Given the description of an element on the screen output the (x, y) to click on. 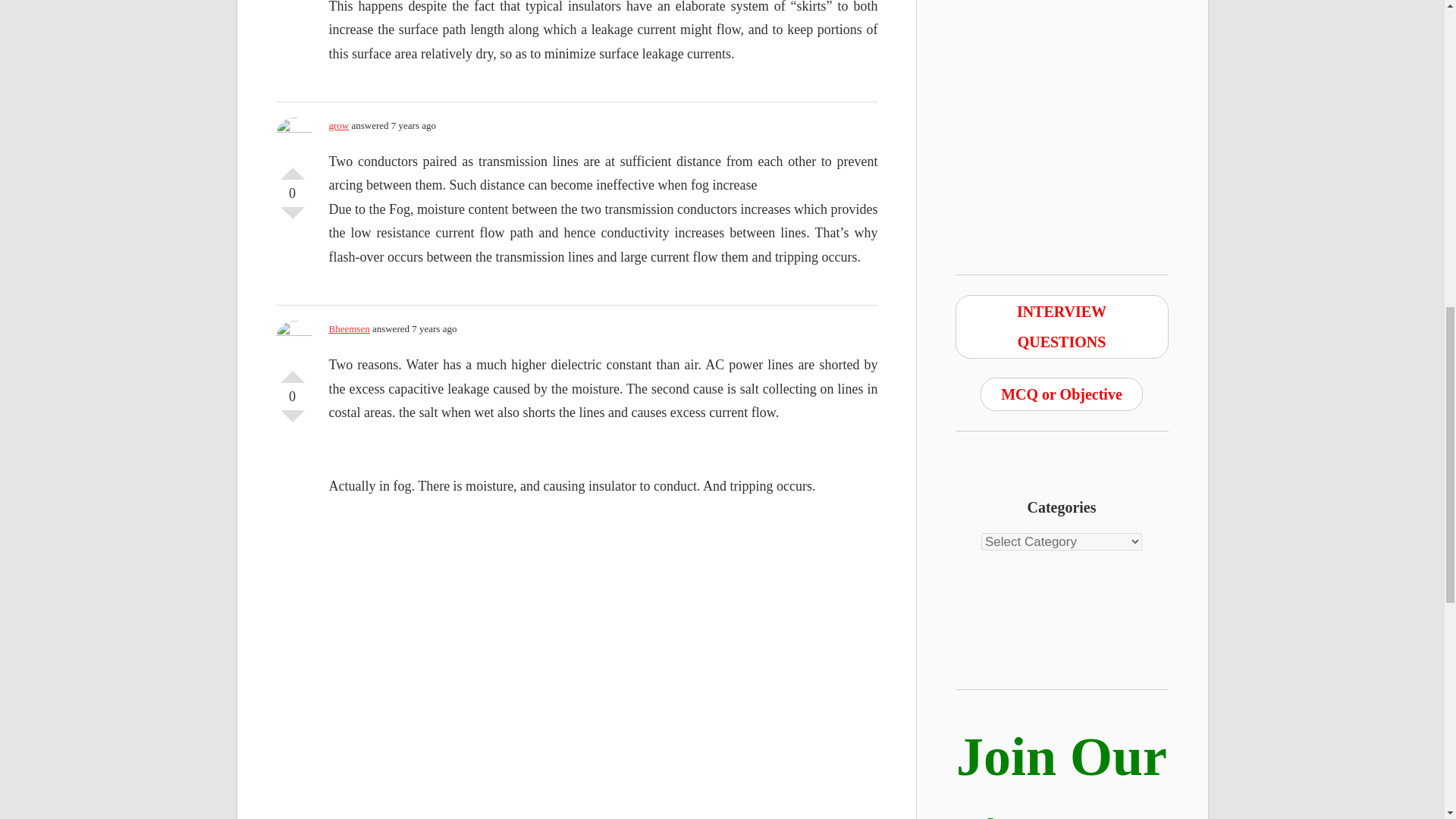
Vote Down (292, 218)
Vote Down (292, 422)
Vote Up (292, 167)
grow (339, 125)
Bheemsen (349, 328)
Vote Down (292, 2)
Advertisement (1062, 100)
MCQ or Objective (1060, 394)
Vote Up (292, 370)
INTERVIEW QUESTIONS (1062, 326)
